Given the description of an element on the screen output the (x, y) to click on. 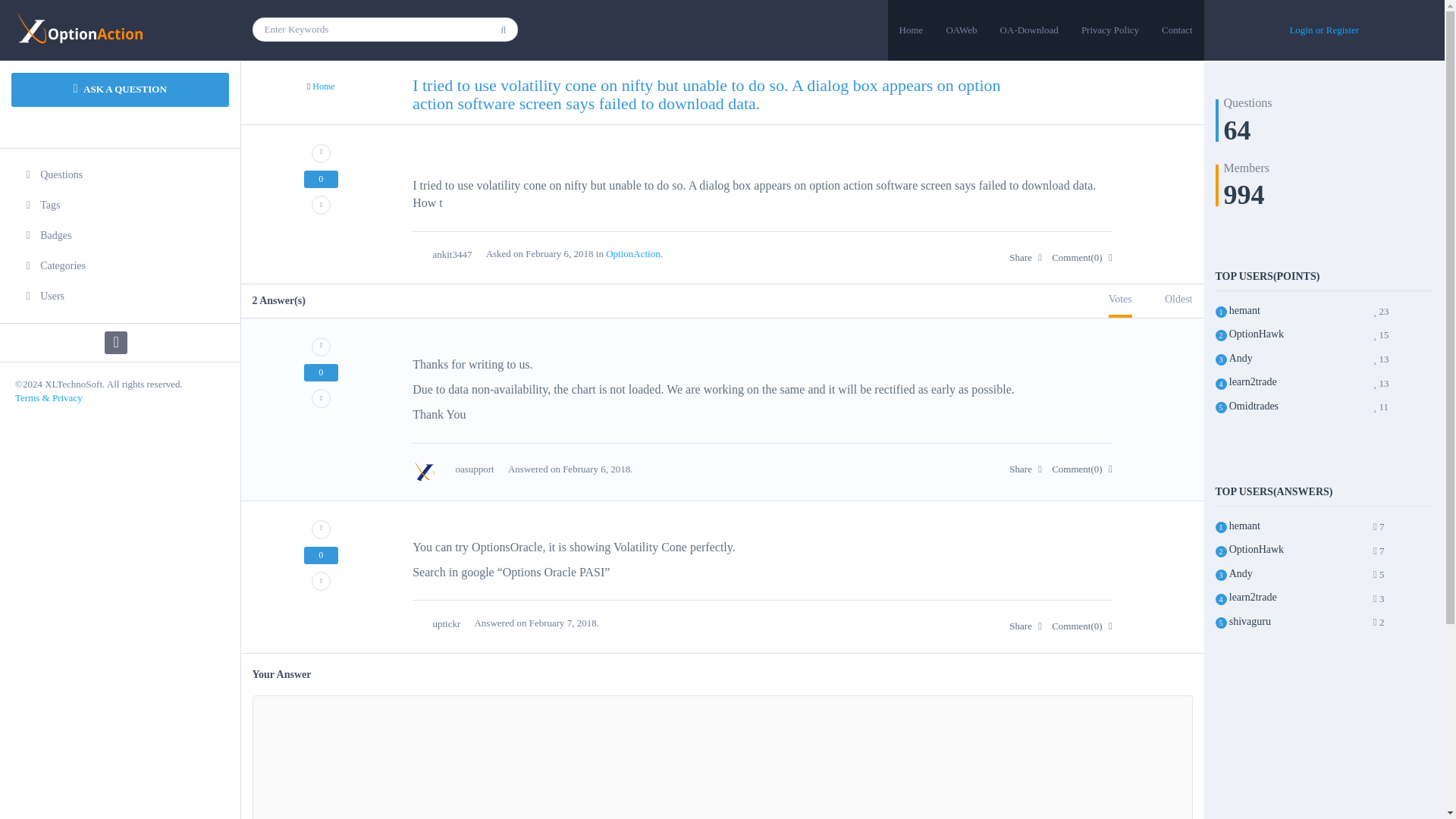
Tags (119, 205)
ASK A QUESTION (119, 89)
Login or Register (1323, 30)
OA-Download (1029, 30)
Categories (119, 265)
Privacy Policy (1109, 30)
Questions (119, 174)
Users (119, 296)
Badges (119, 235)
